Given the description of an element on the screen output the (x, y) to click on. 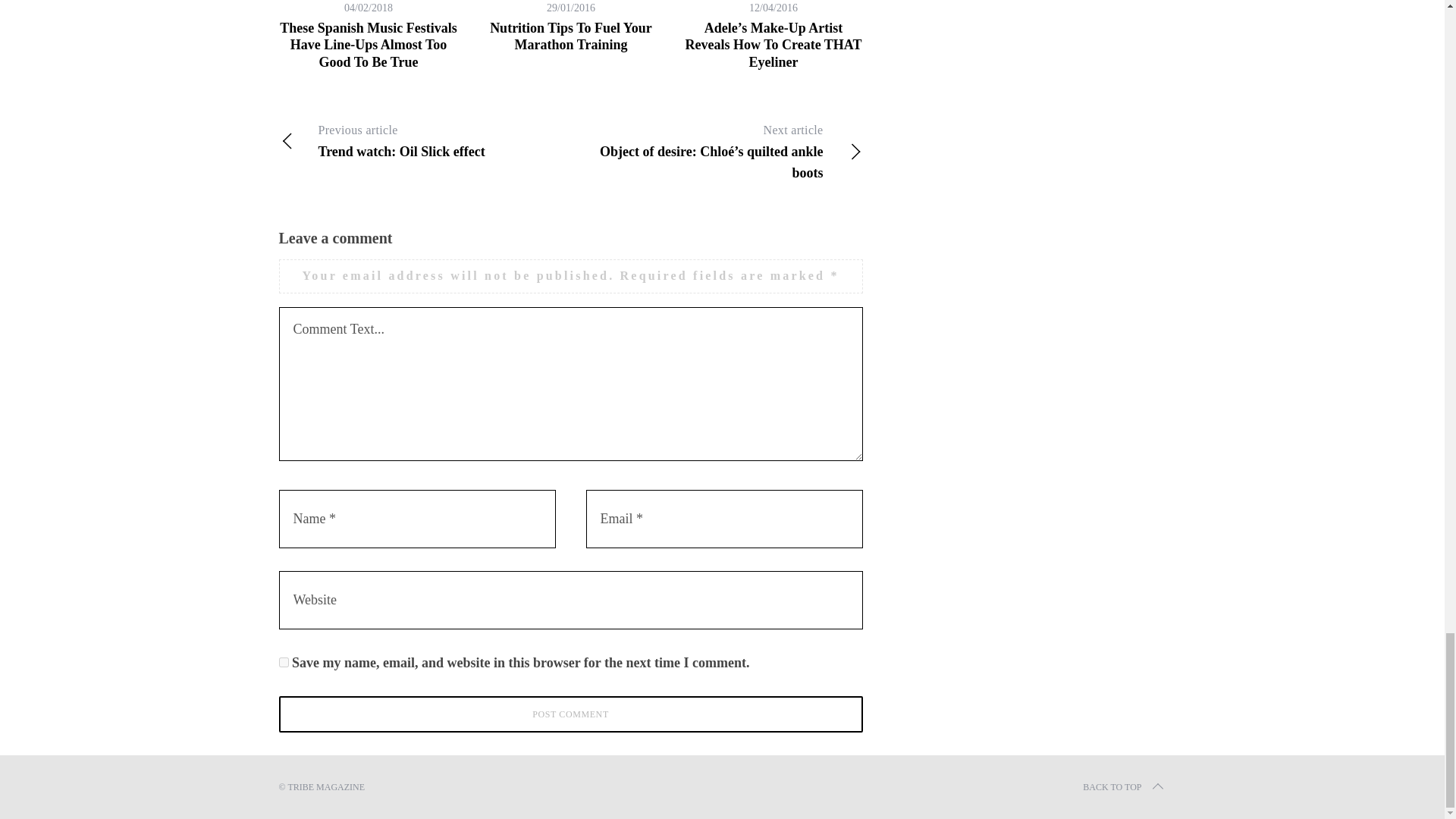
yes (283, 662)
Post Comment (571, 714)
Nutrition Tips To Fuel Your Marathon Training (570, 36)
